Given the description of an element on the screen output the (x, y) to click on. 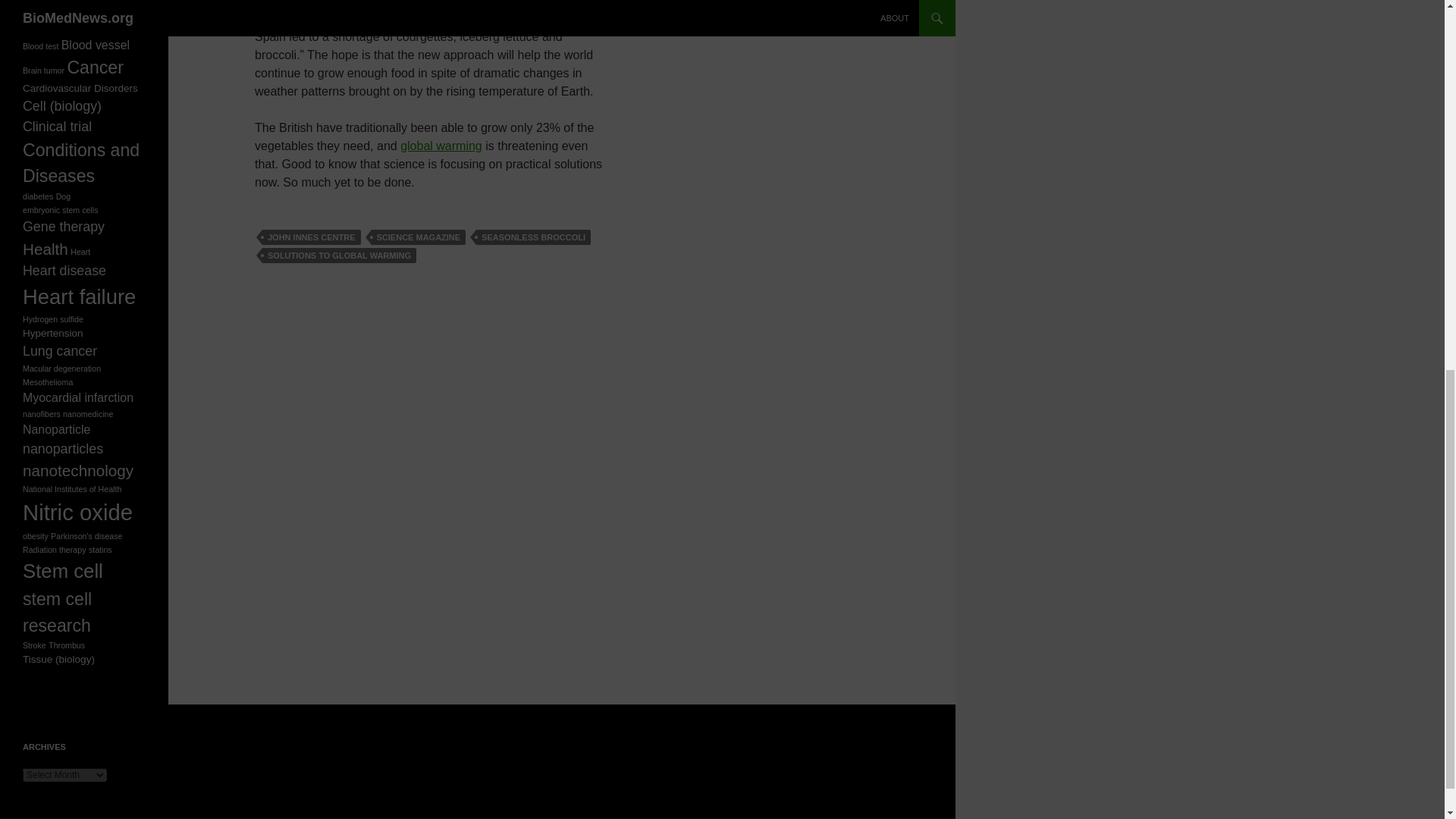
Science Magazine online (322, 18)
SOLUTIONS TO GLOBAL WARMING (339, 255)
SCIENCE MAGAZINE (418, 237)
global warming (440, 145)
SEASONLESS BROCCOLI (533, 237)
JOHN INNES CENTRE (311, 237)
